Given the description of an element on the screen output the (x, y) to click on. 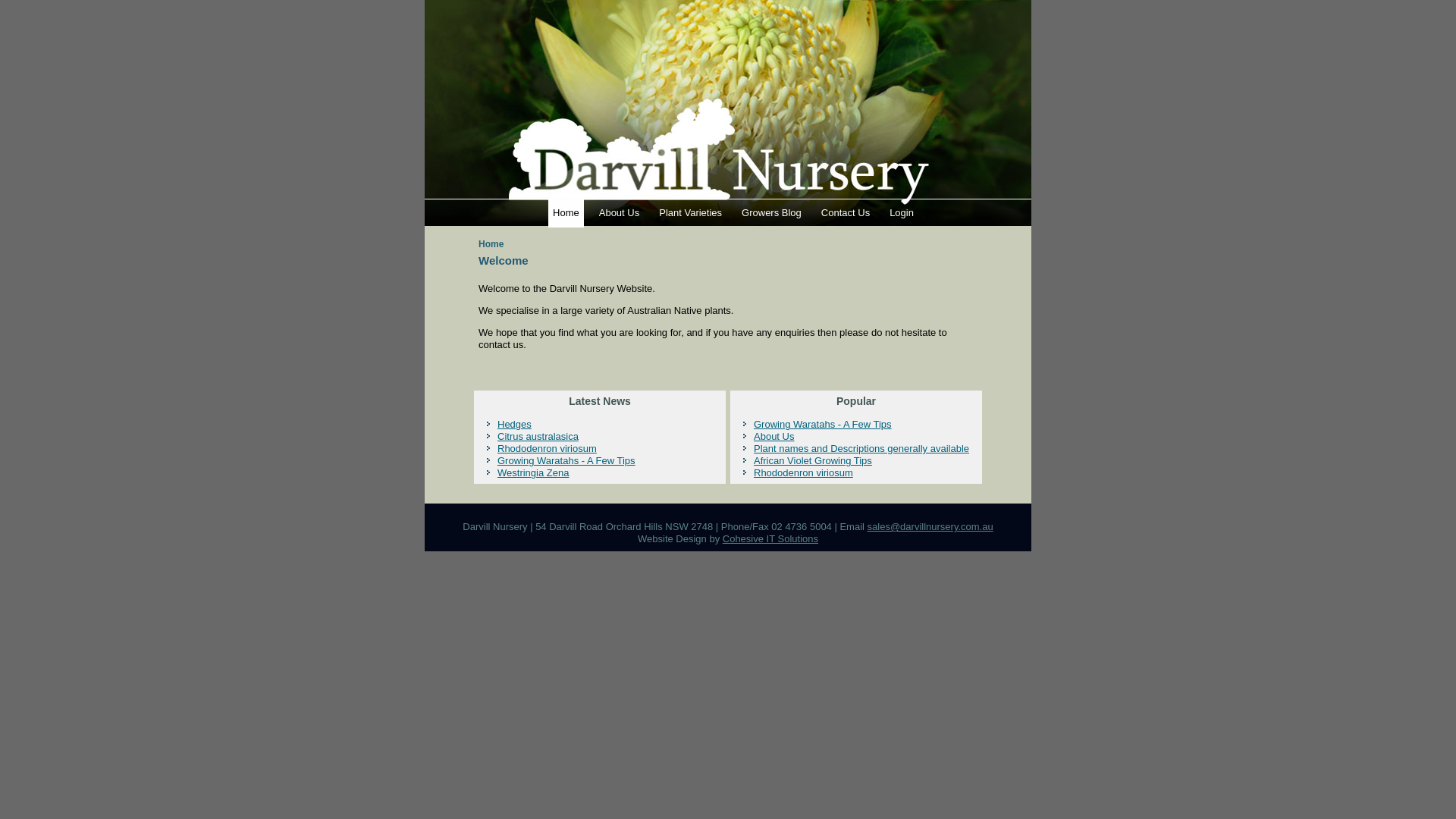
Rhododenron viriosum Element type: text (546, 448)
Growers Blog Element type: text (771, 212)
About Us Element type: text (773, 436)
African Violet Growing Tips Element type: text (812, 460)
Contact Us Element type: text (845, 212)
Growing Waratahs - A Few Tips Element type: text (566, 460)
Plant names and Descriptions generally available Element type: text (861, 448)
Rhododenron viriosum Element type: text (803, 472)
Citrus australasica Element type: text (537, 436)
Plant Varieties Element type: text (690, 212)
About Us Element type: text (618, 212)
Cohesive IT Solutions Element type: text (770, 538)
Home Element type: text (565, 212)
Login Element type: text (901, 212)
Hedges Element type: text (514, 423)
sales@darvillnursery.com.au Element type: text (930, 526)
Westringia Zena Element type: text (532, 472)
Growing Waratahs - A Few Tips Element type: text (822, 423)
